Given the description of an element on the screen output the (x, y) to click on. 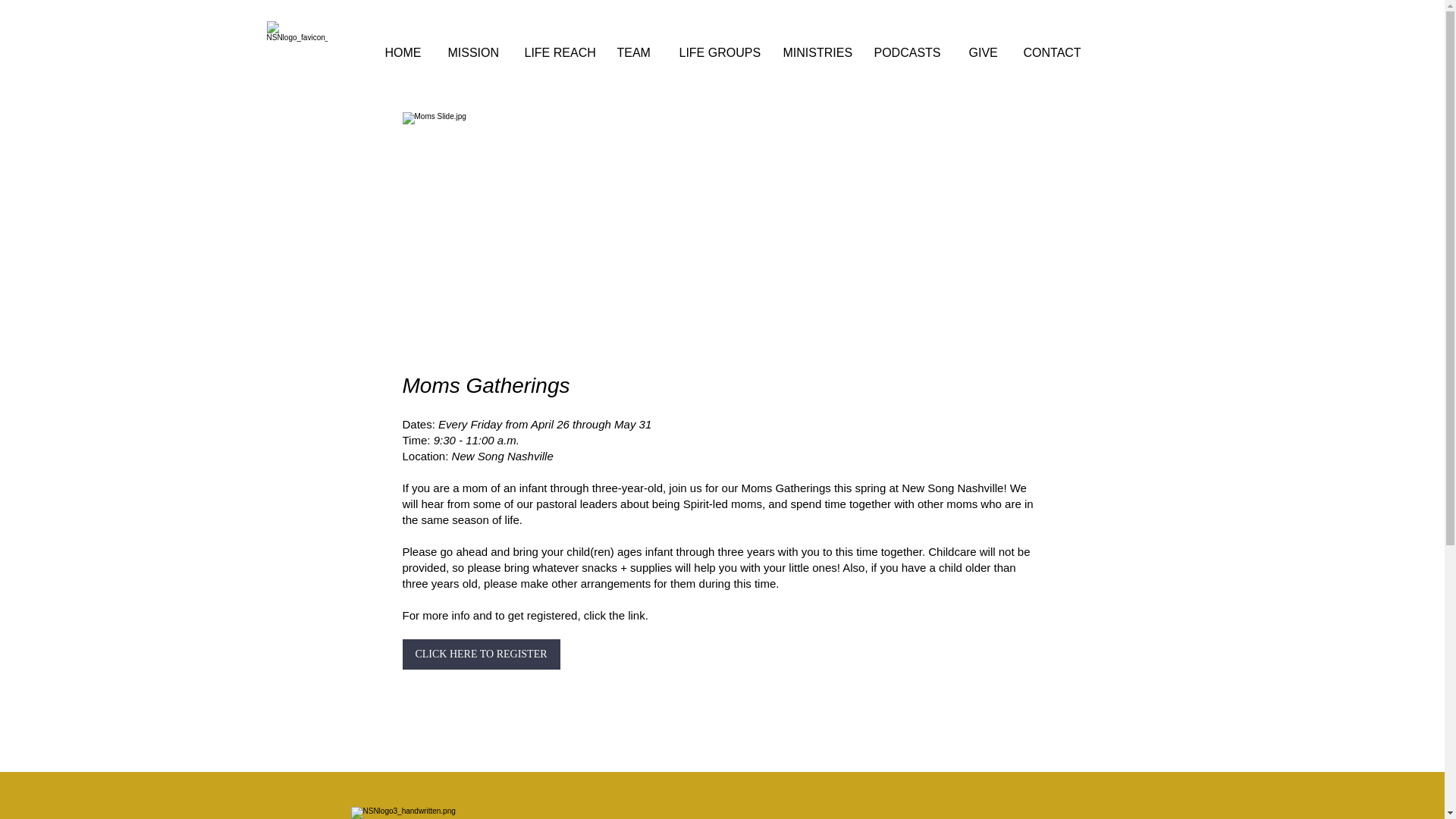
PODCASTS (910, 53)
CONTACT (1055, 53)
HOME (403, 53)
CLICK HERE TO REGISTER (480, 654)
